Given the description of an element on the screen output the (x, y) to click on. 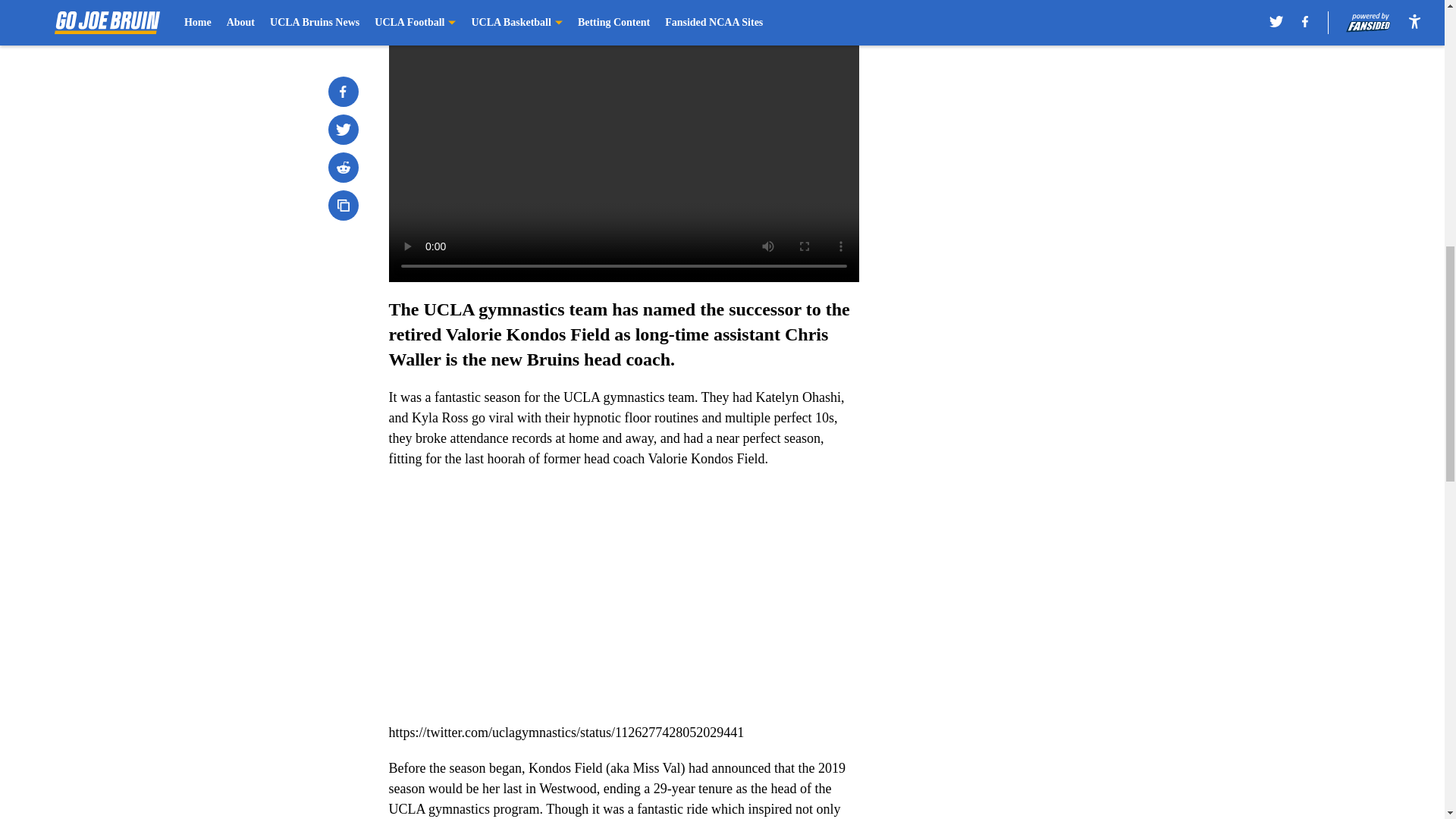
3rd party ad content (1047, 332)
3rd party ad content (1047, 113)
